Given the description of an element on the screen output the (x, y) to click on. 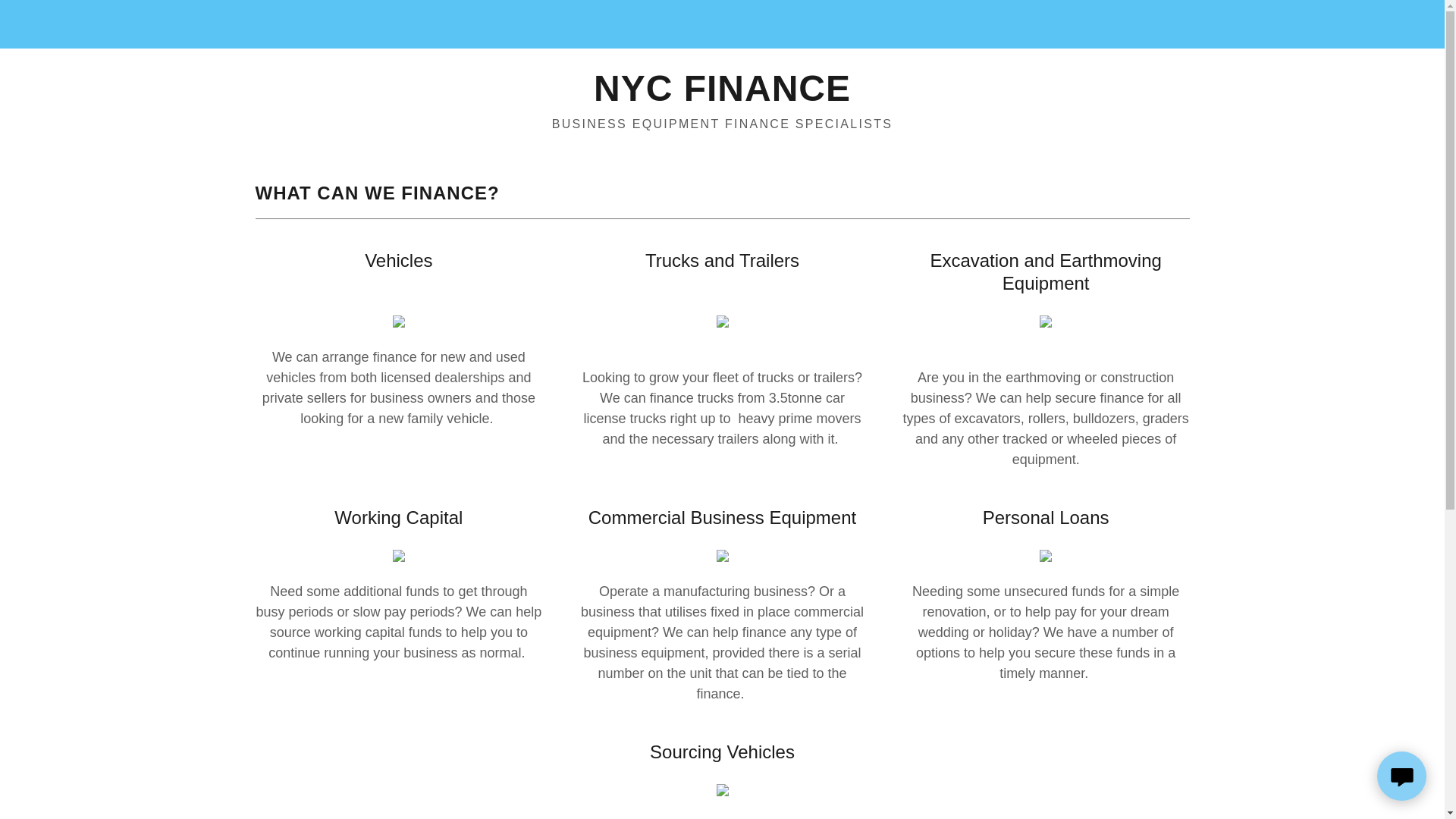
NYC Finance (722, 96)
NYC FINANCE (722, 96)
